Given the description of an element on the screen output the (x, y) to click on. 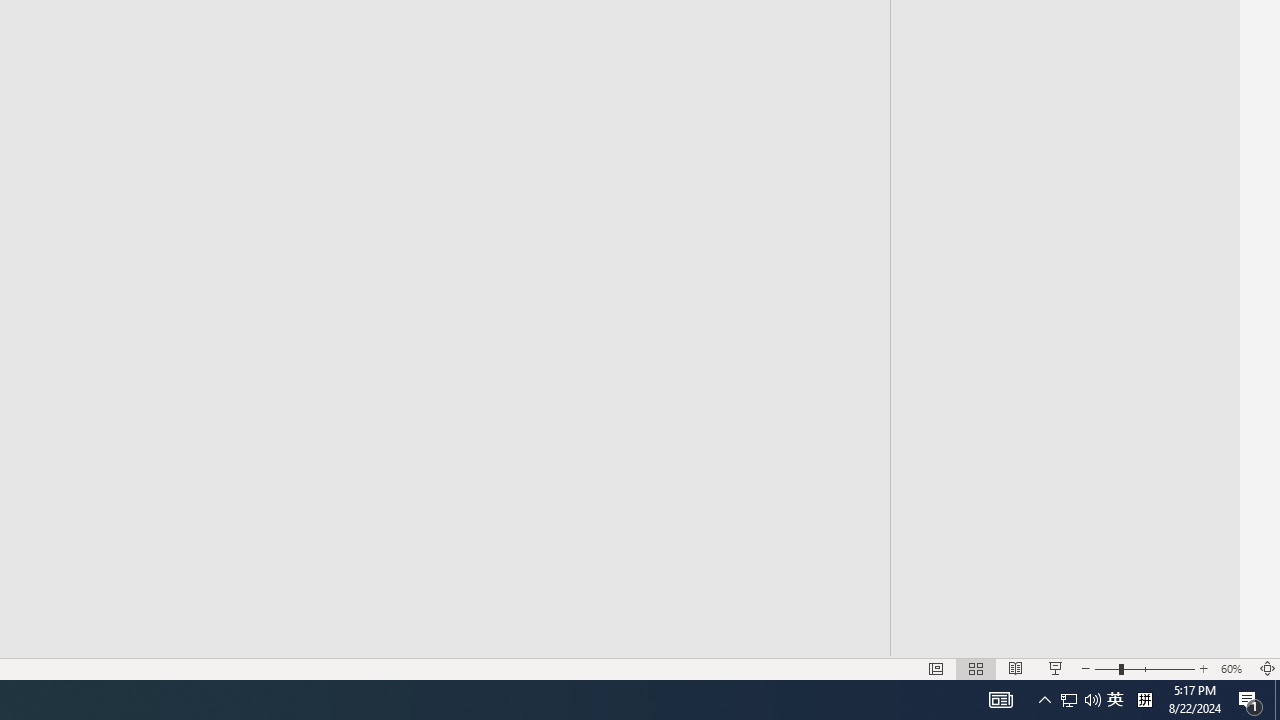
Zoom 60% (1234, 668)
